Given the description of an element on the screen output the (x, y) to click on. 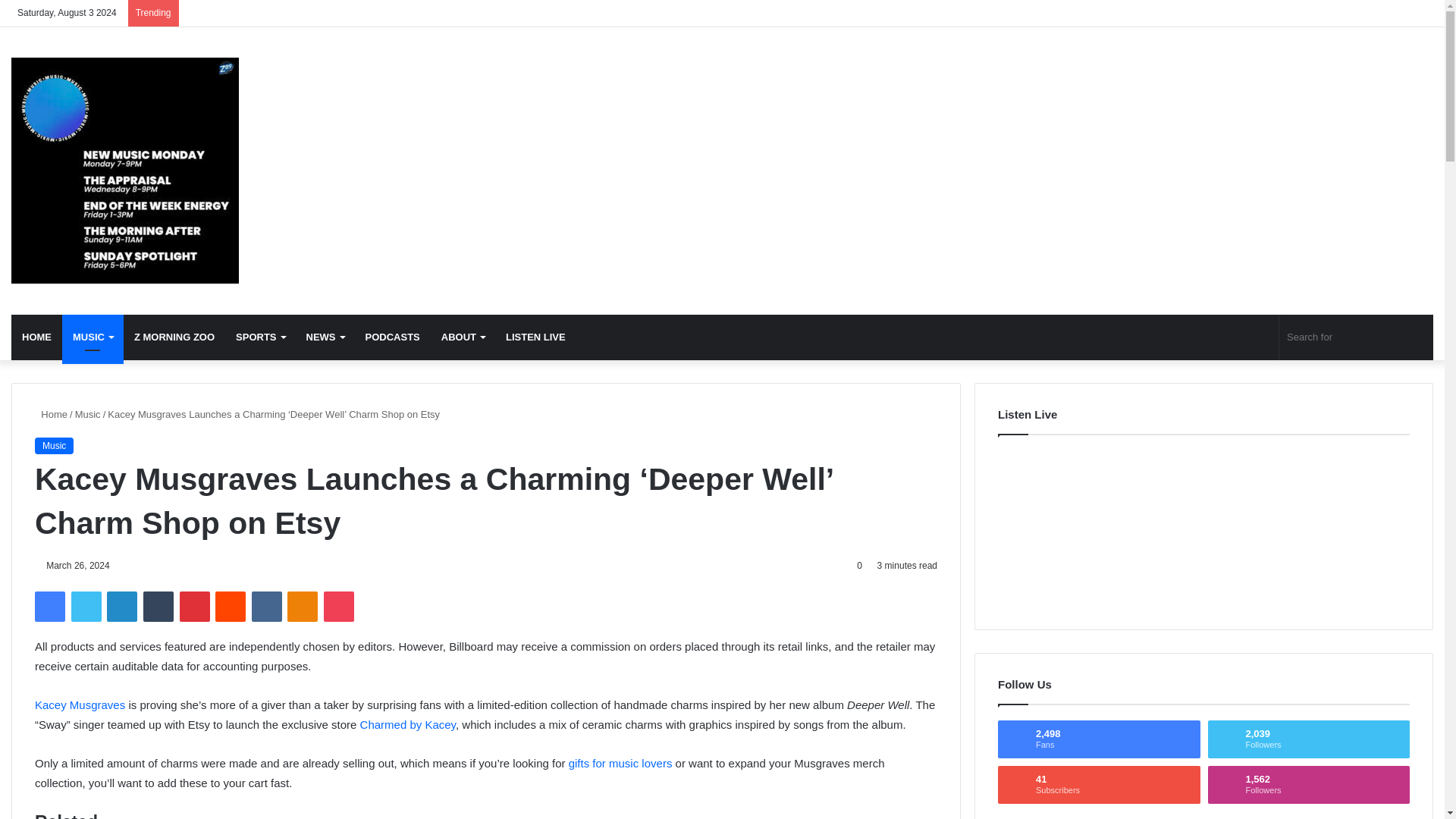
Odnoklassniki (301, 606)
SPORTS (260, 337)
Facebook (49, 606)
Facebook (1330, 13)
TikTok (1398, 13)
Pinterest (194, 606)
Pocket (338, 606)
Tumblr (157, 606)
MUSIC (92, 337)
Log In (1421, 13)
Search for (1355, 337)
Instagram (1376, 13)
Twitter (1353, 13)
VKontakte (266, 606)
Twitter (86, 606)
